Given the description of an element on the screen output the (x, y) to click on. 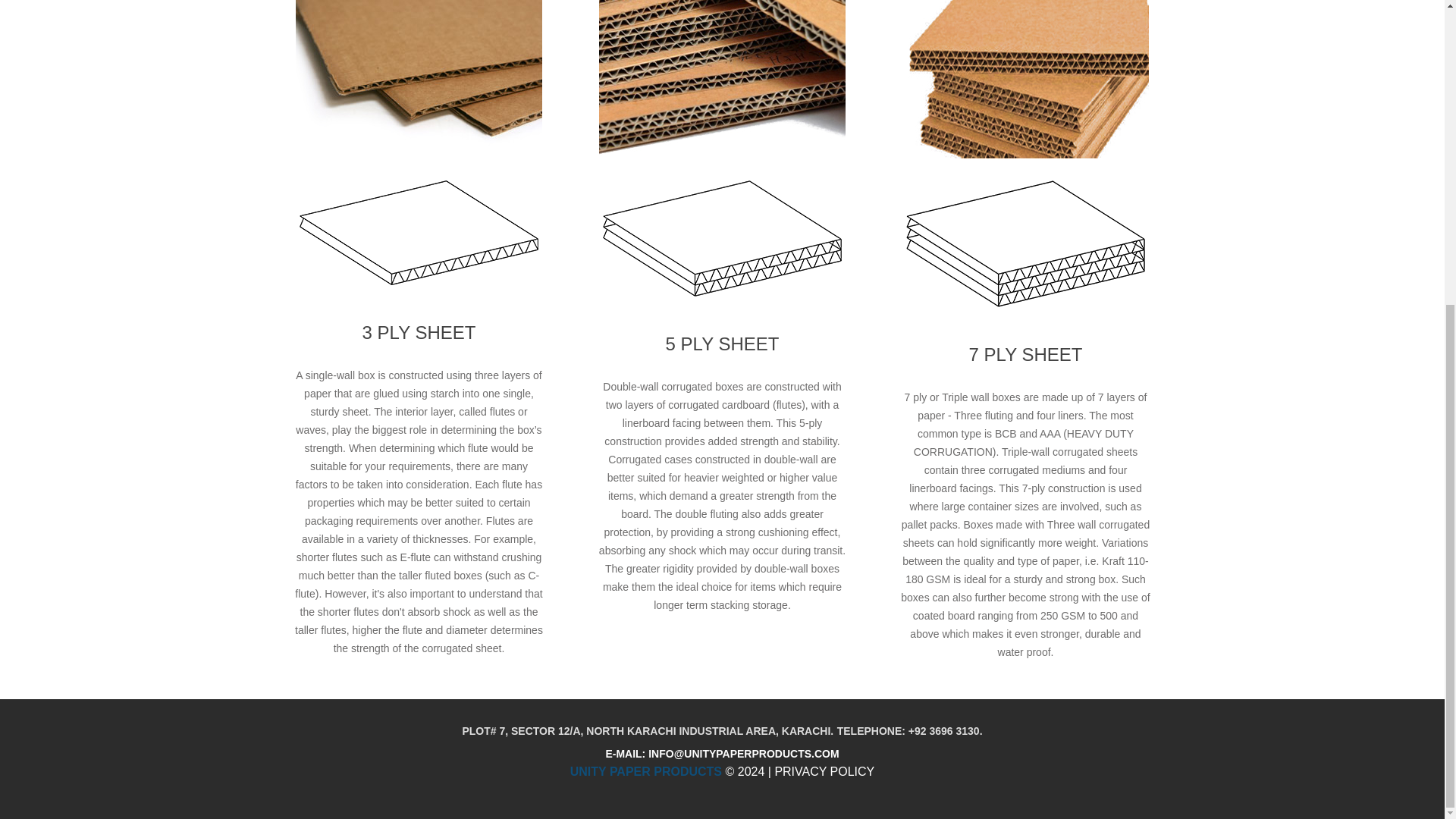
PRIVACY POLICY (824, 771)
